Given the description of an element on the screen output the (x, y) to click on. 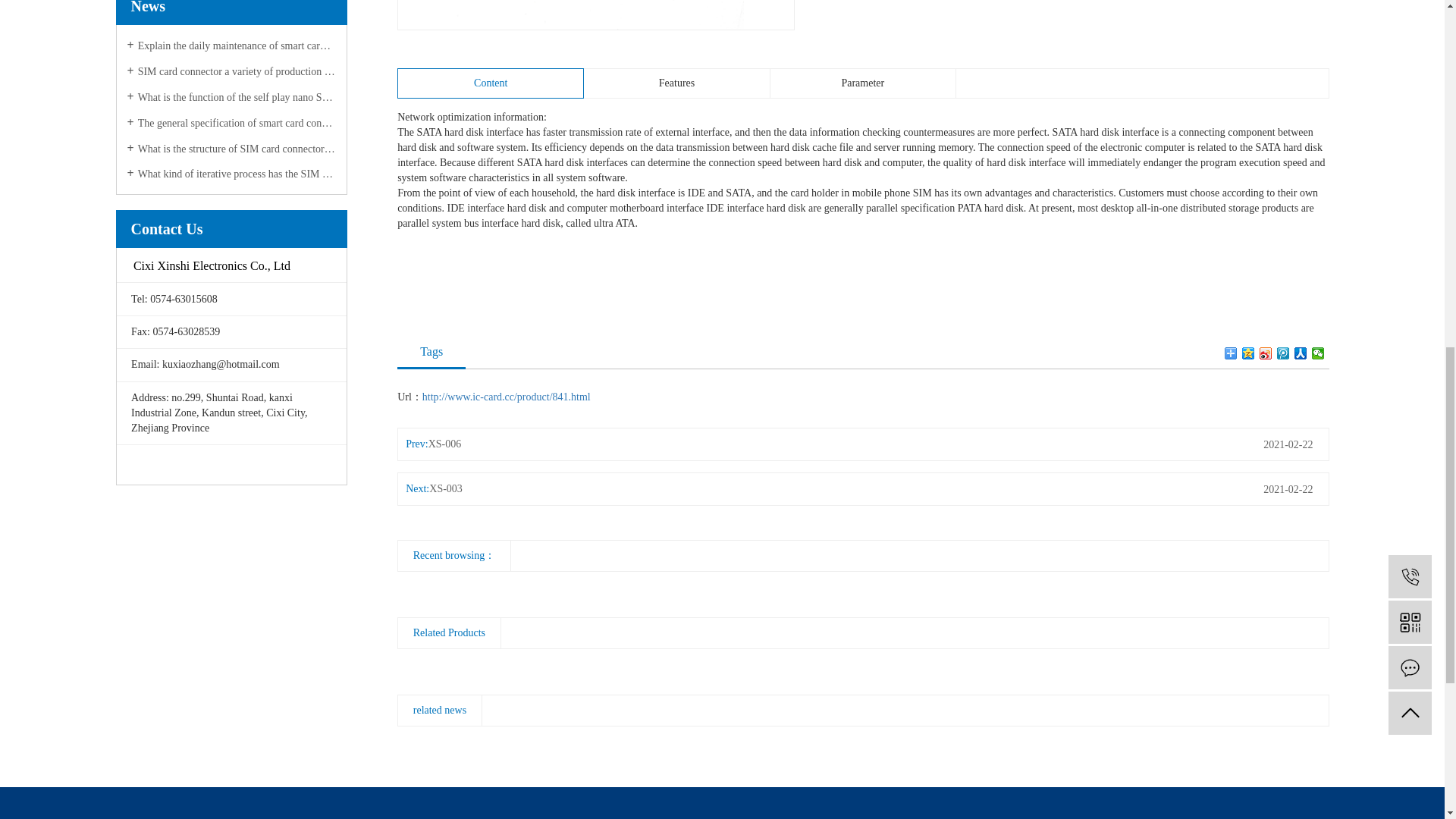
Explain the daily maintenance of smart card connector (232, 45)
